Given the description of an element on the screen output the (x, y) to click on. 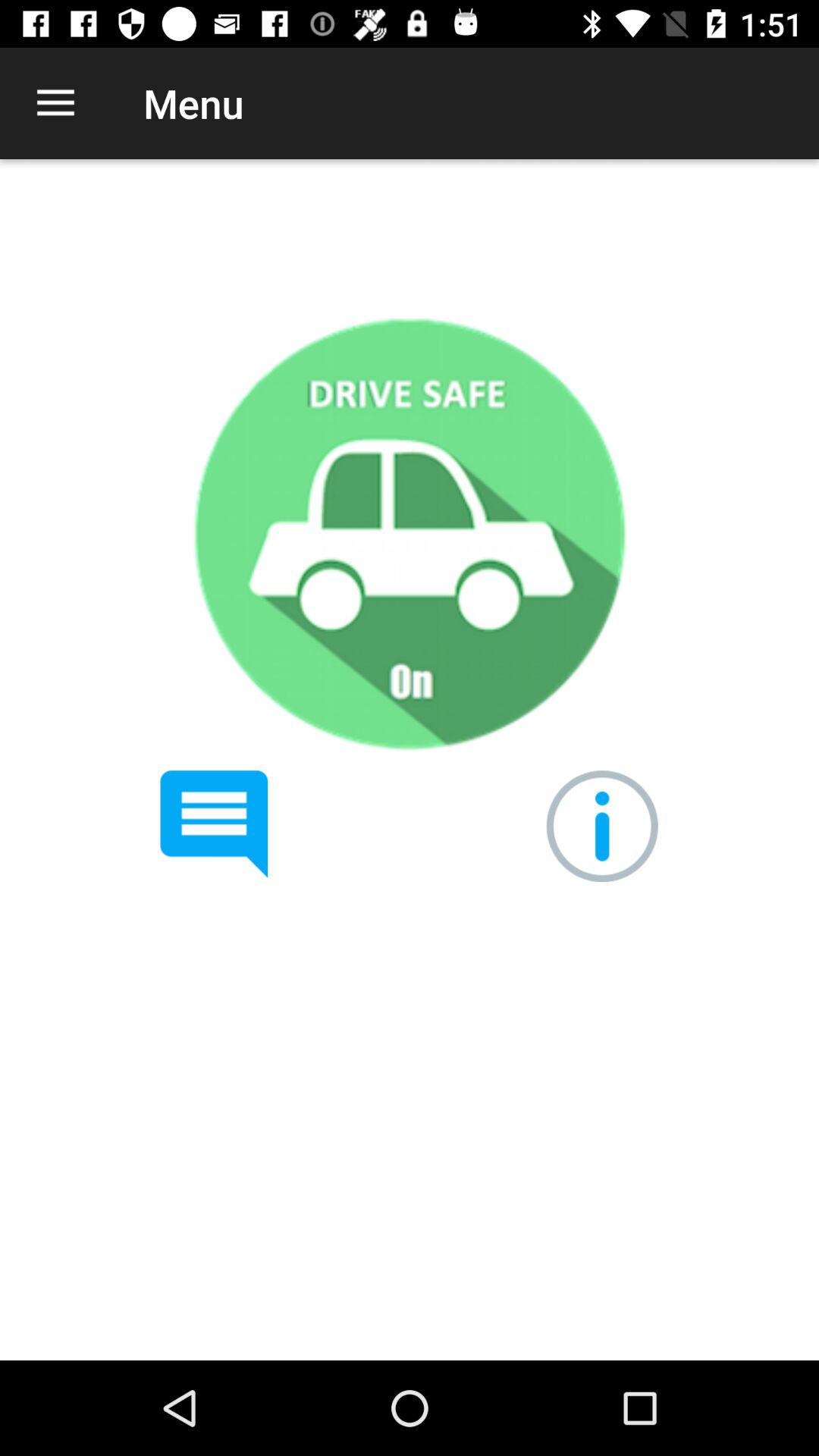
chat (213, 824)
